Given the description of an element on the screen output the (x, y) to click on. 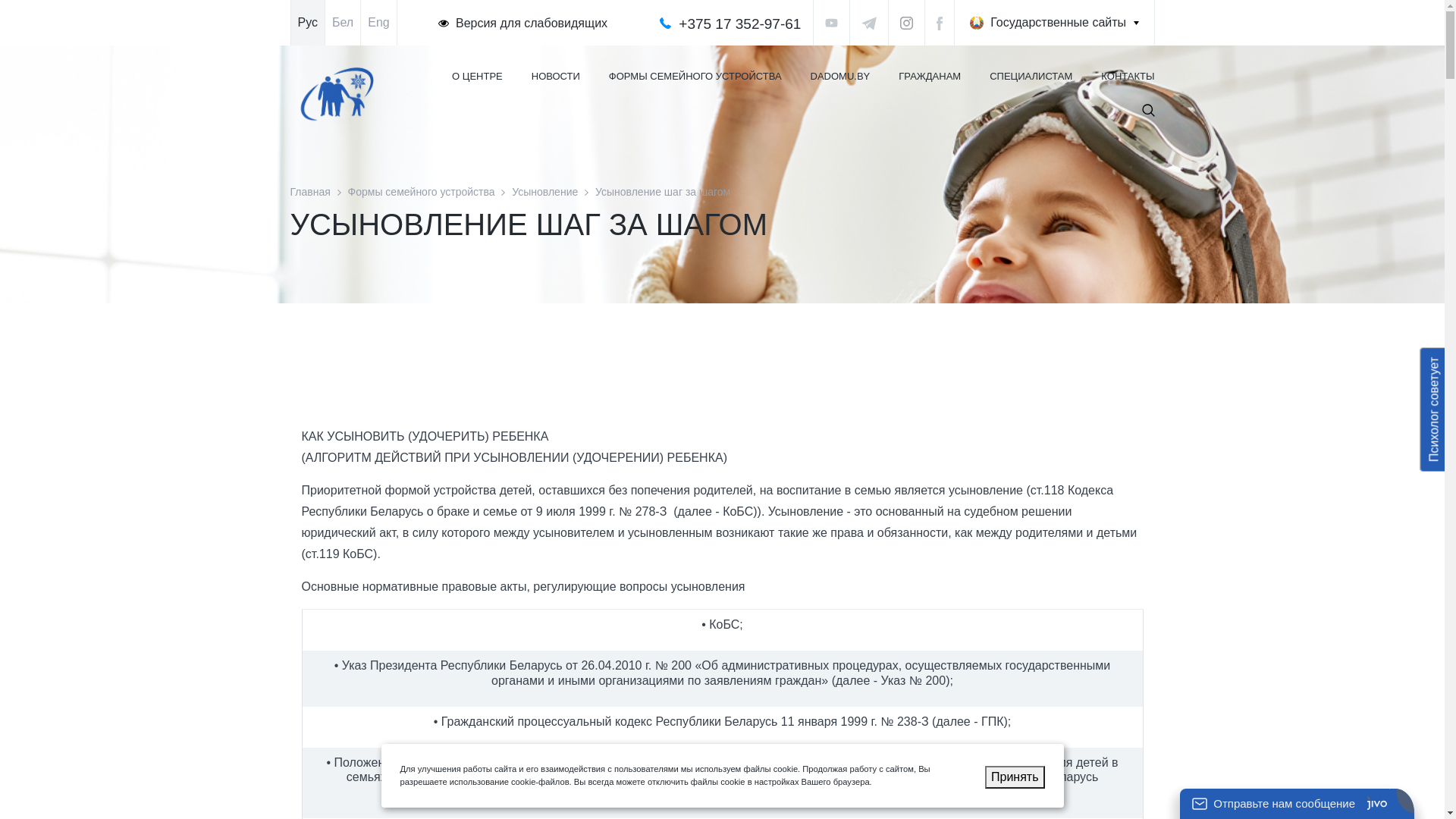
Eng Element type: text (378, 22)
DADOMU.BY Element type: text (840, 76)
+375 17 352-97-61 Element type: text (739, 24)
